Given the description of an element on the screen output the (x, y) to click on. 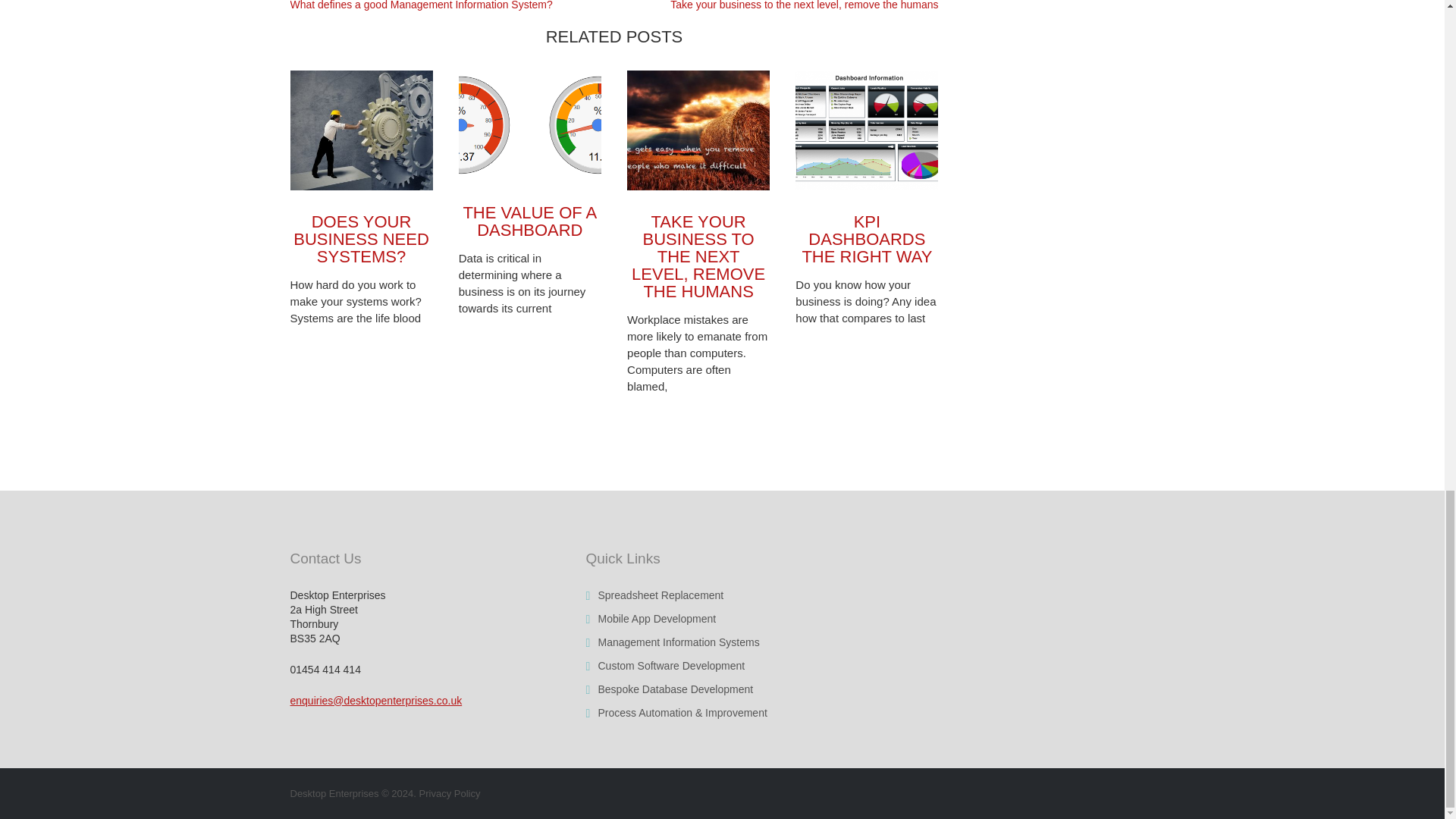
Custom Software Development (670, 665)
What defines a good Management Information System? (420, 5)
DOES YOUR BUSINESS NEED SYSTEMS? (361, 239)
Spreadsheet Replacement (659, 594)
Take your business to the next level, remove the humans (803, 5)
Desktop Enterprises (333, 793)
Bespoke Database Development (674, 689)
Management Information Systems (677, 642)
THE VALUE OF A DASHBOARD (529, 221)
TAKE YOUR BUSINESS TO THE NEXT LEVEL, REMOVE THE HUMANS (698, 256)
